Given the description of an element on the screen output the (x, y) to click on. 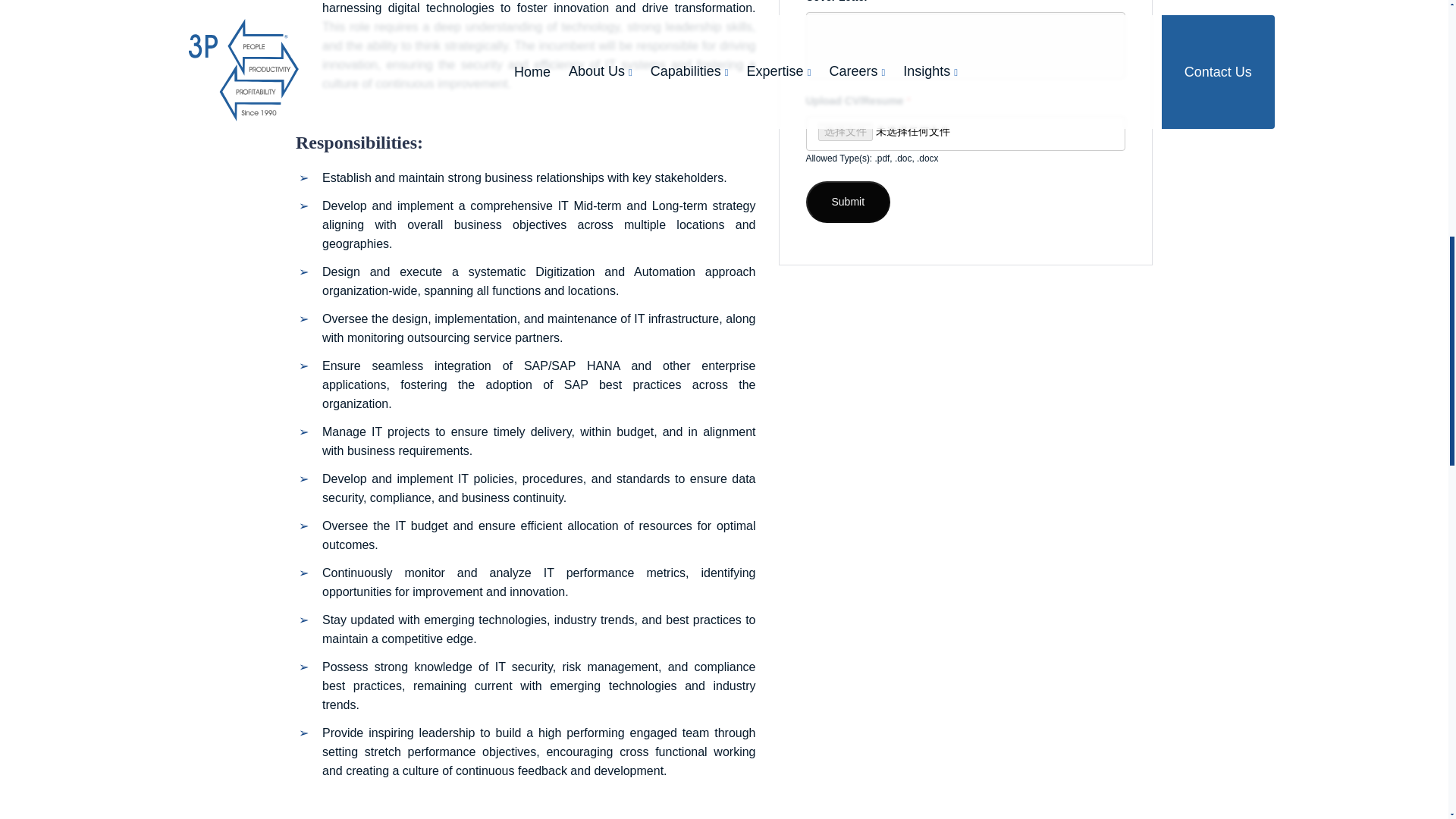
Submit (847, 201)
